Given the description of an element on the screen output the (x, y) to click on. 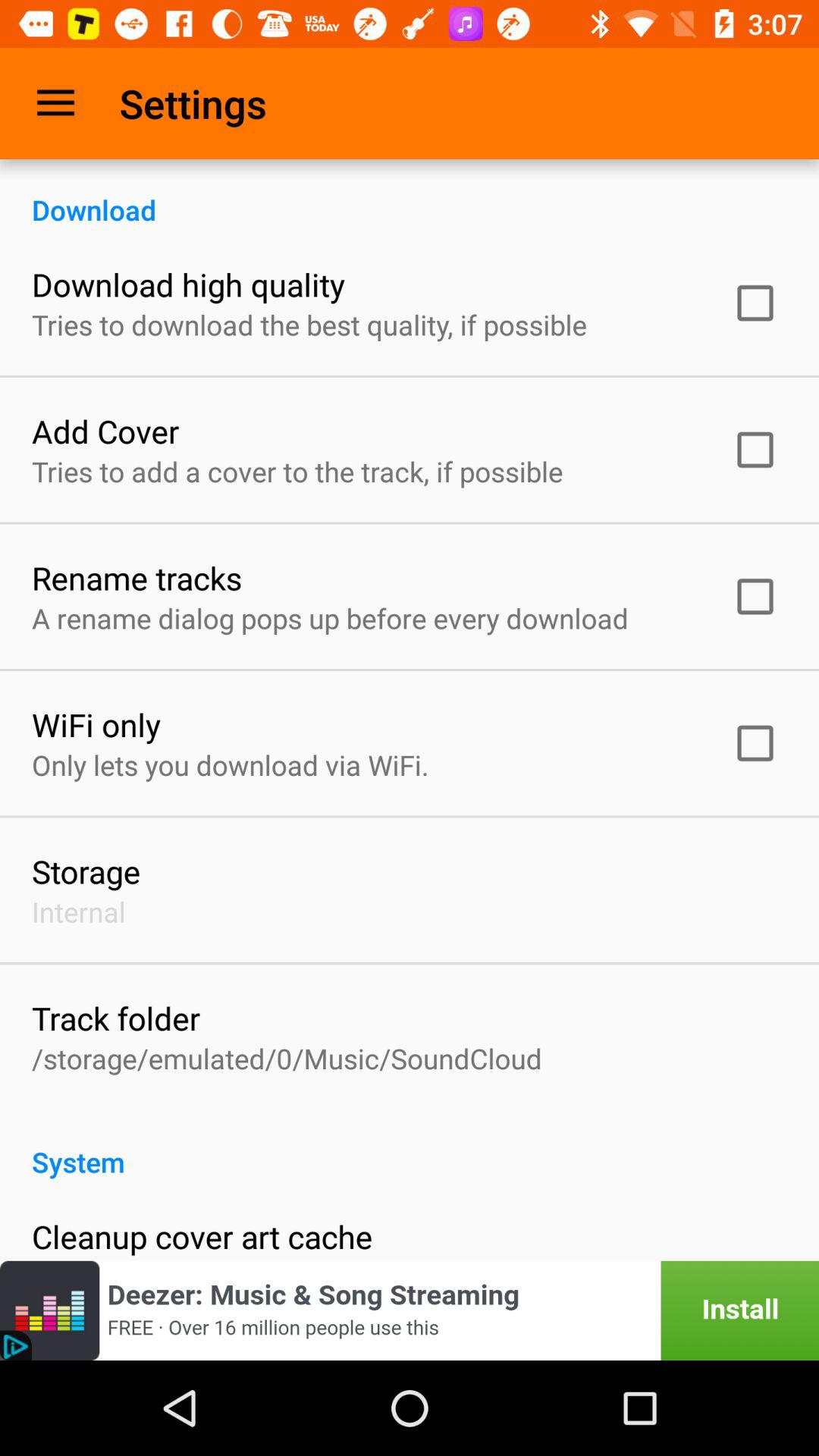
swipe until the system item (409, 1145)
